Given the description of an element on the screen output the (x, y) to click on. 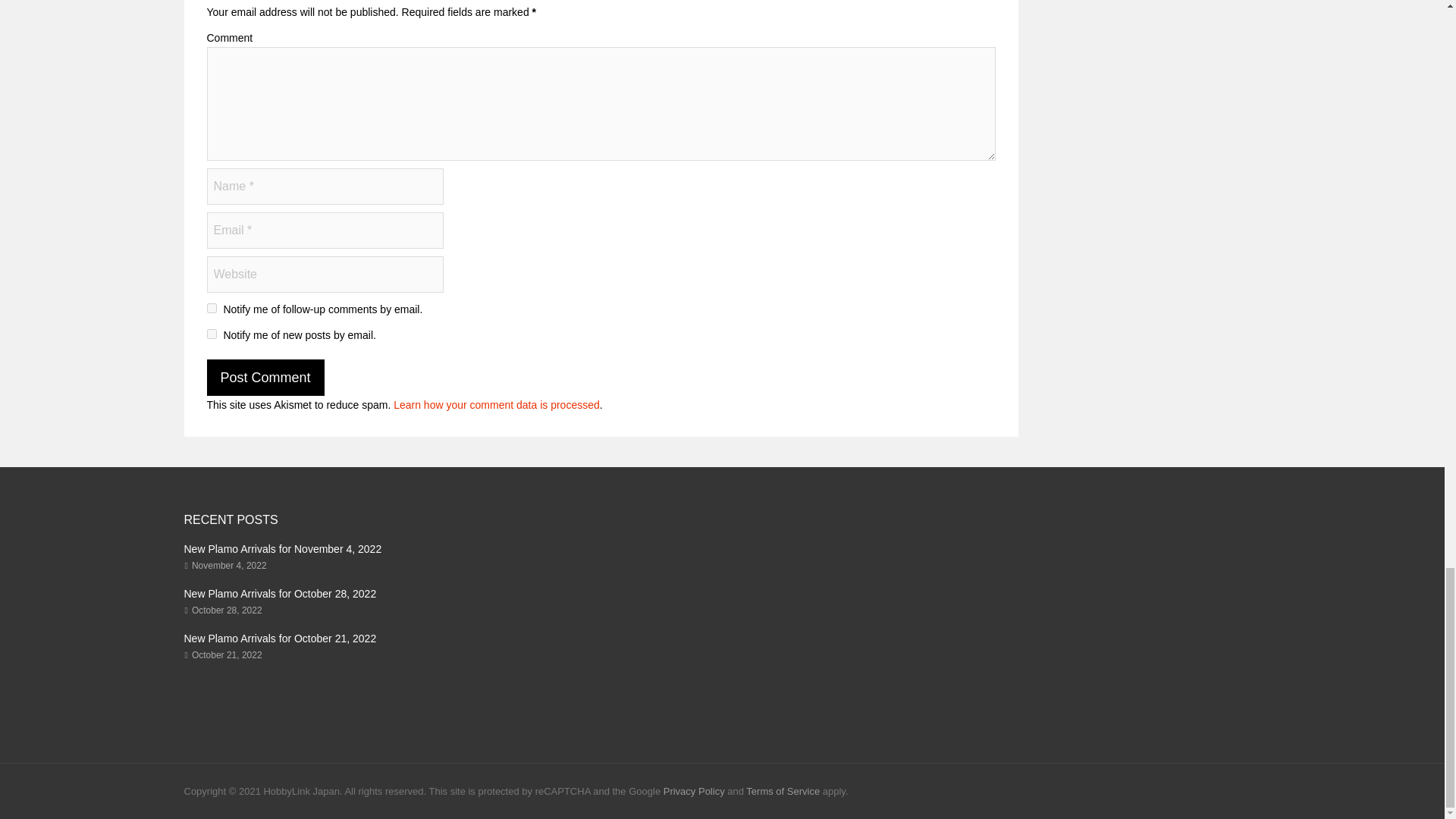
subscribe (210, 334)
Post Comment (264, 377)
subscribe (210, 307)
